Given the description of an element on the screen output the (x, y) to click on. 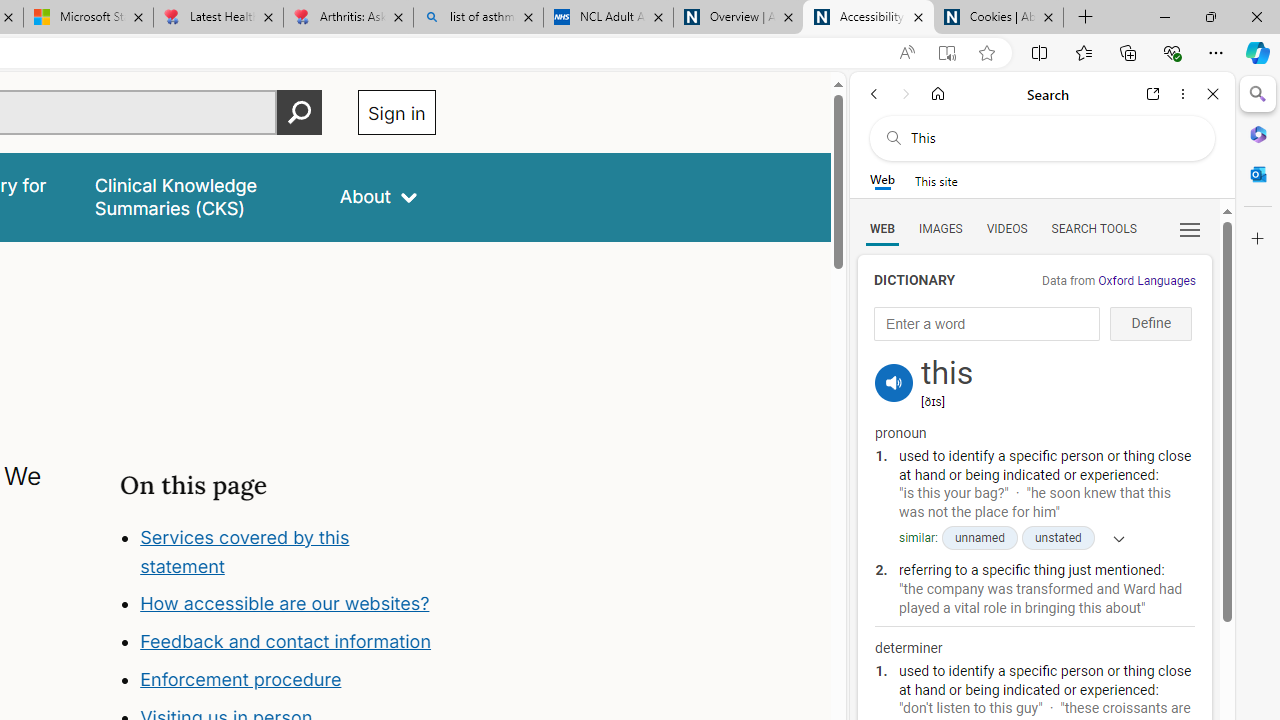
Link for logging (893, 359)
Oxford Languages (1146, 281)
Define (1150, 323)
Perform search (299, 112)
